Given the description of an element on the screen output the (x, y) to click on. 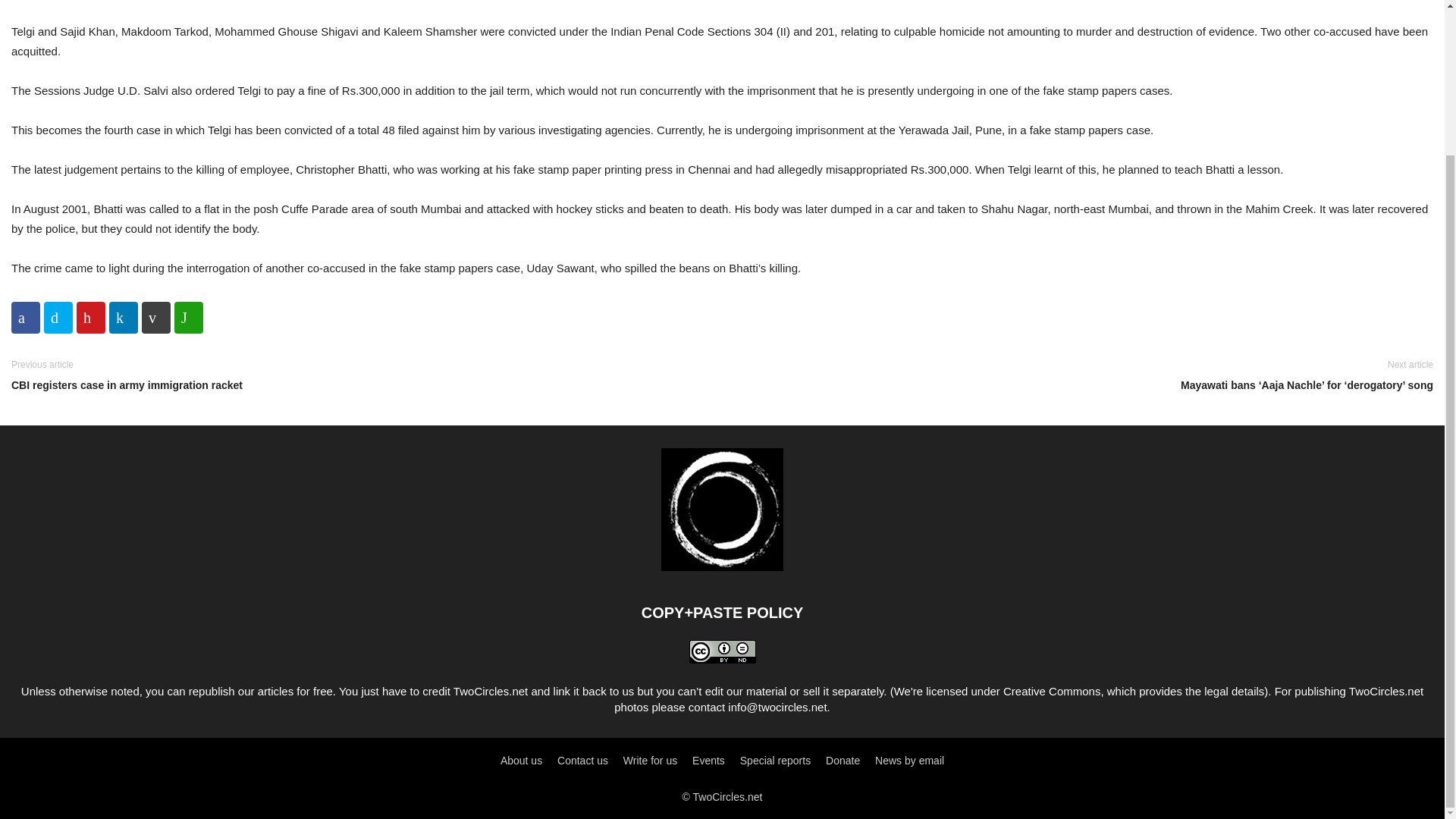
Creative Commons (1051, 690)
Write for us (650, 760)
Share on Facebook (25, 317)
CBI registers case in army immigration racket (362, 385)
Share on WhatsApp (188, 317)
Share on Email (155, 317)
Share on LinkedIn (123, 317)
Contact us (582, 760)
News by email (909, 760)
About us (520, 760)
